Given the description of an element on the screen output the (x, y) to click on. 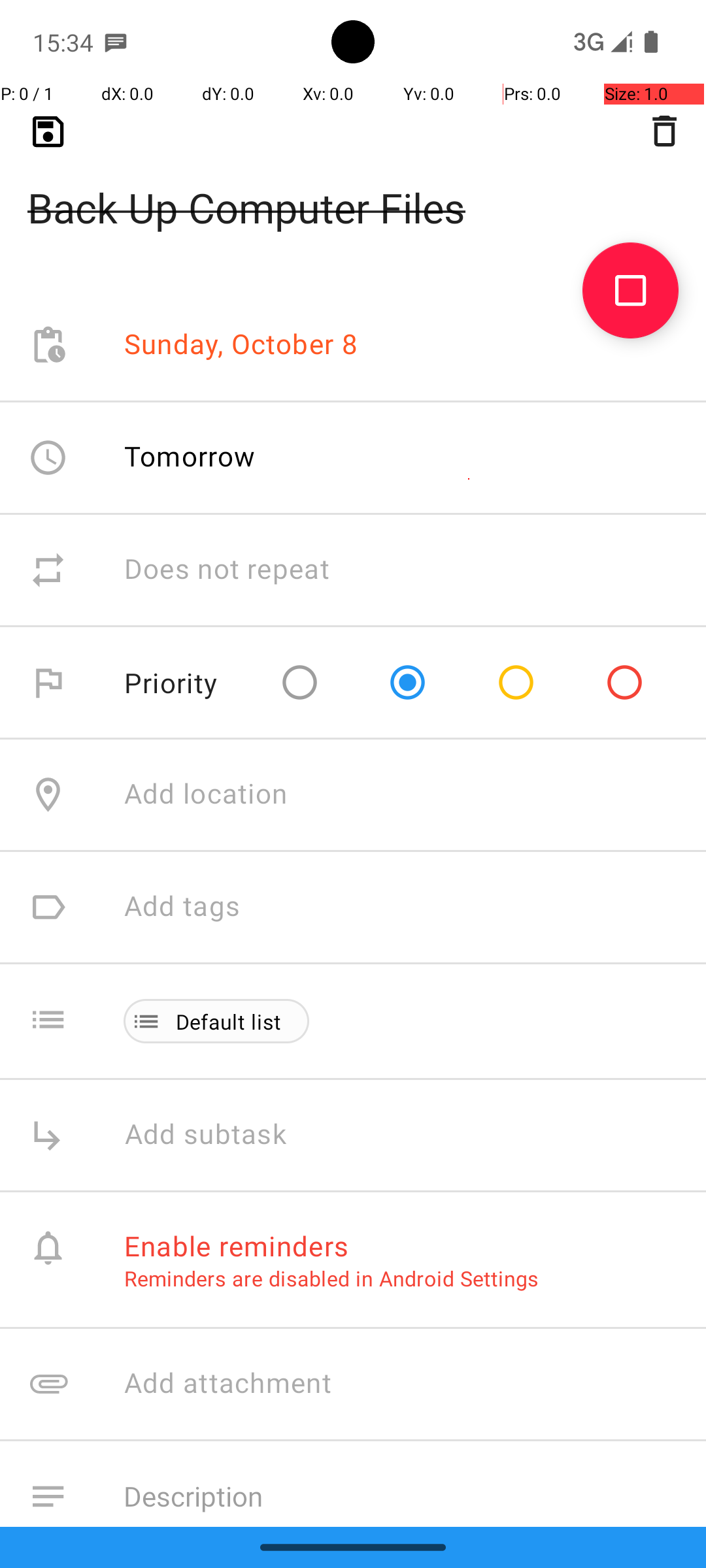
Back Up Computer Files Element type: android.widget.EditText (353, 186)
Sunday, October 8 Element type: android.widget.TextView (240, 344)
